Given the description of an element on the screen output the (x, y) to click on. 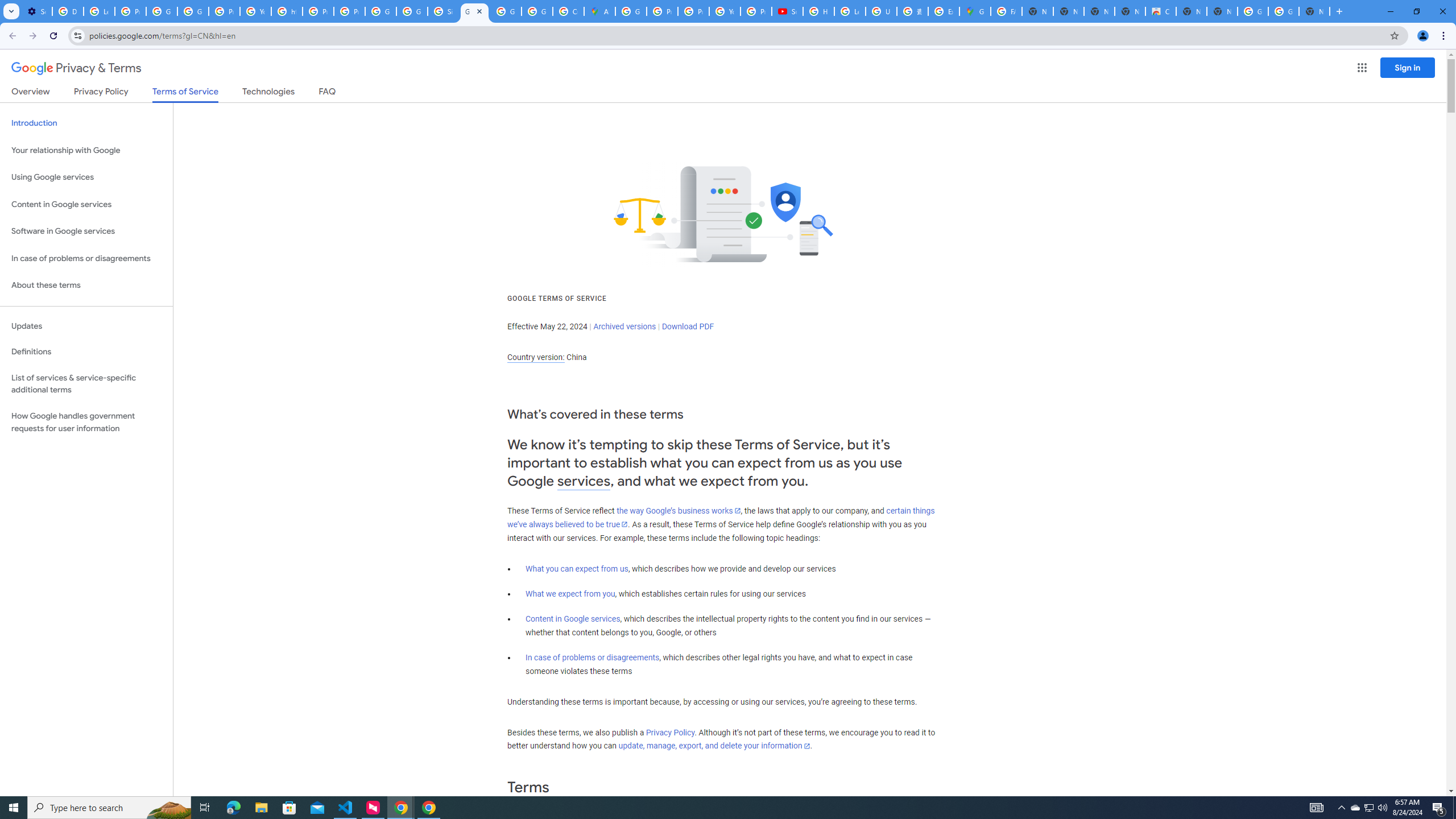
Google Maps (974, 11)
New Tab (1314, 11)
update, manage, export, and delete your information (714, 746)
Content in Google services (572, 618)
Explore new street-level details - Google Maps Help (943, 11)
Country version: (535, 357)
YouTube (724, 11)
